Given the description of an element on the screen output the (x, y) to click on. 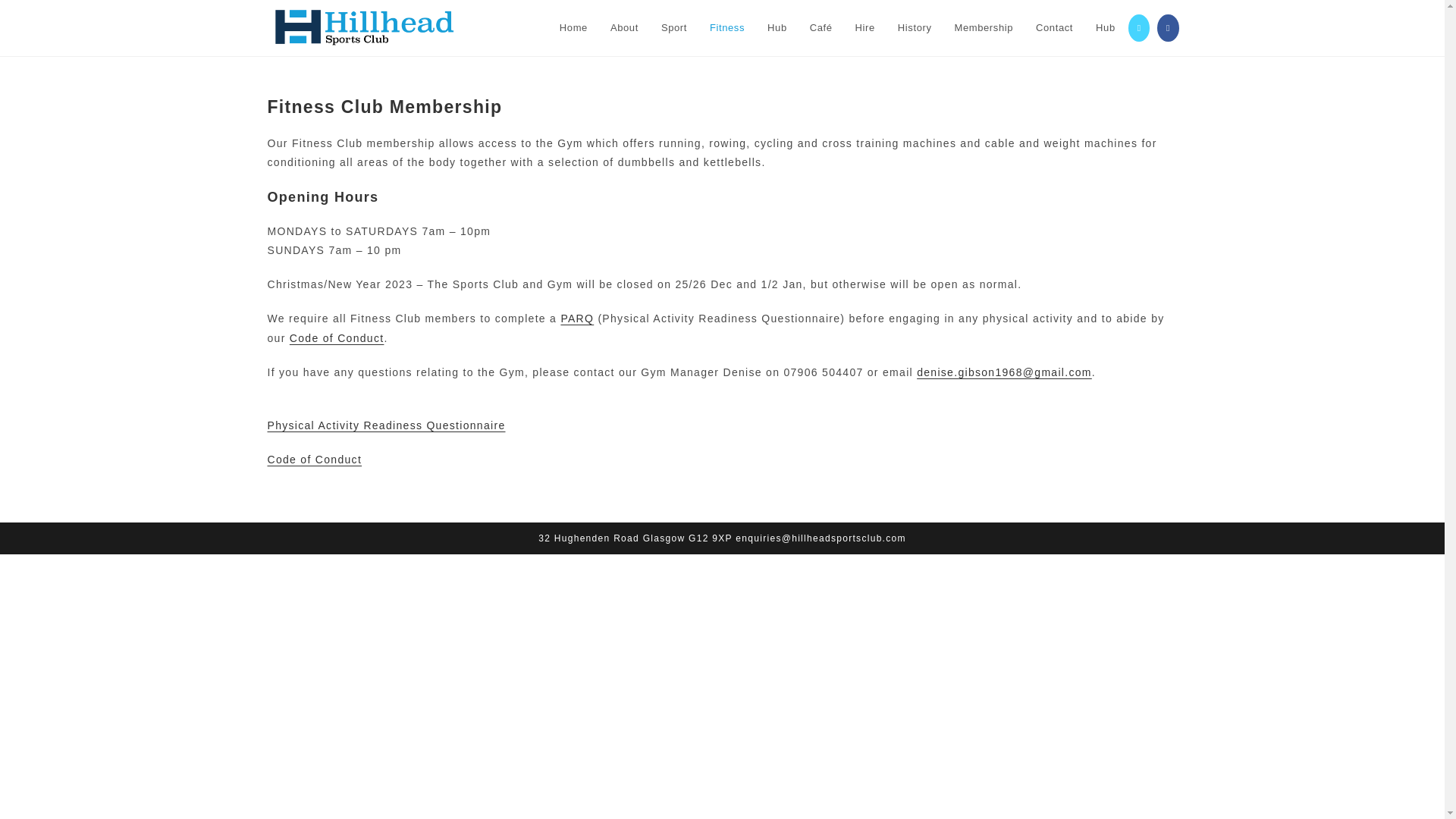
History (914, 28)
Code of Conduct (336, 337)
About (623, 28)
Contact (1054, 28)
Membership (984, 28)
Home (573, 28)
Code of Conduct (313, 459)
Physical Activity Readiness Questionnaire (385, 434)
Fitness (726, 28)
PARQ (577, 318)
